Given the description of an element on the screen output the (x, y) to click on. 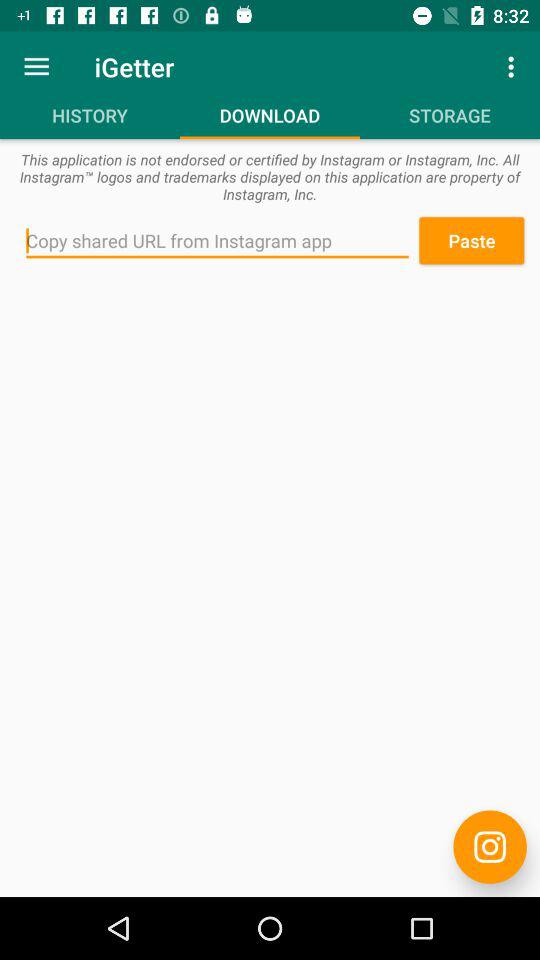
flip until the paste icon (471, 240)
